Given the description of an element on the screen output the (x, y) to click on. 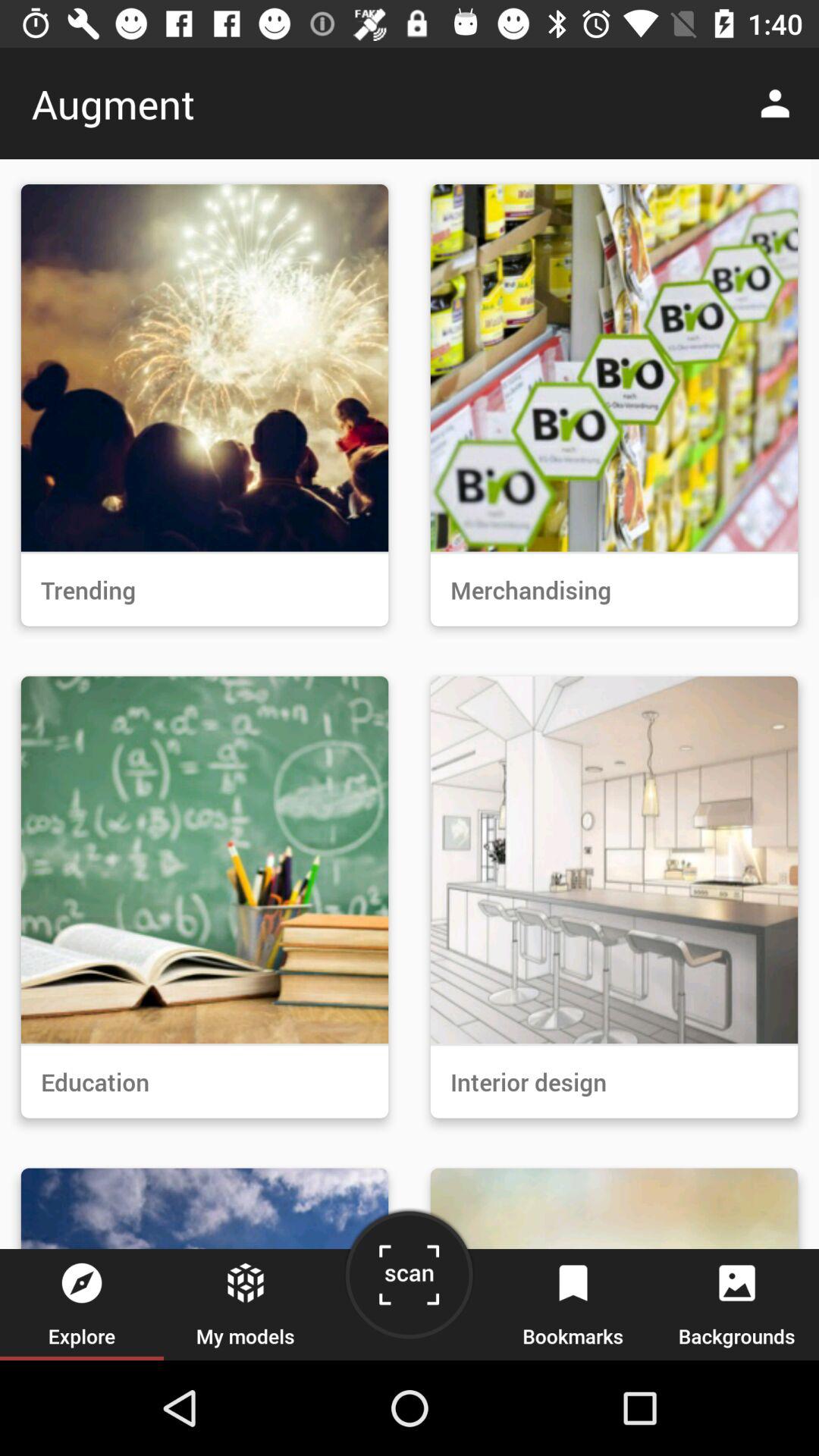
open the item next to my models item (408, 1280)
